Given the description of an element on the screen output the (x, y) to click on. 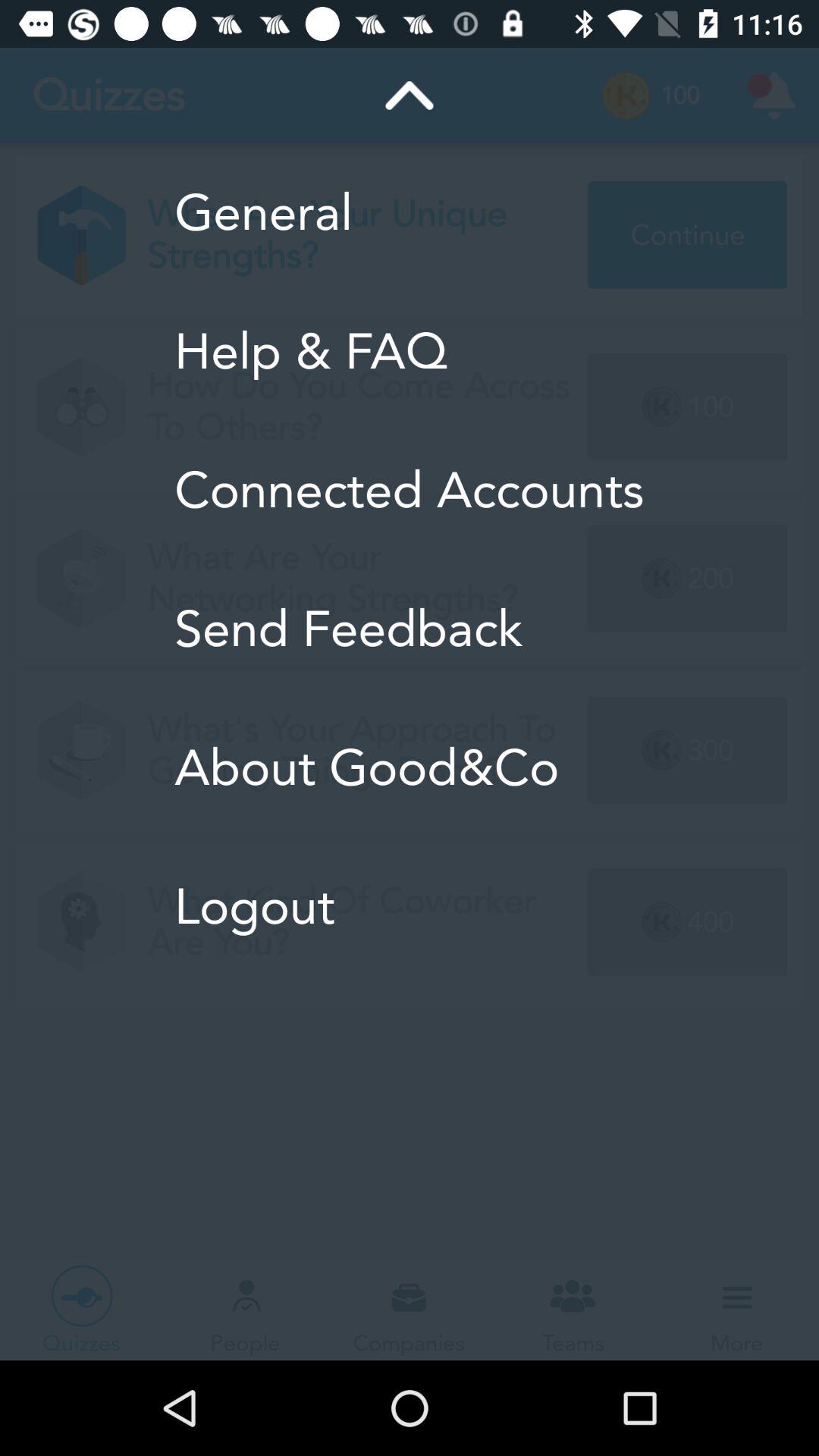
flip until the logout icon (408, 906)
